Given the description of an element on the screen output the (x, y) to click on. 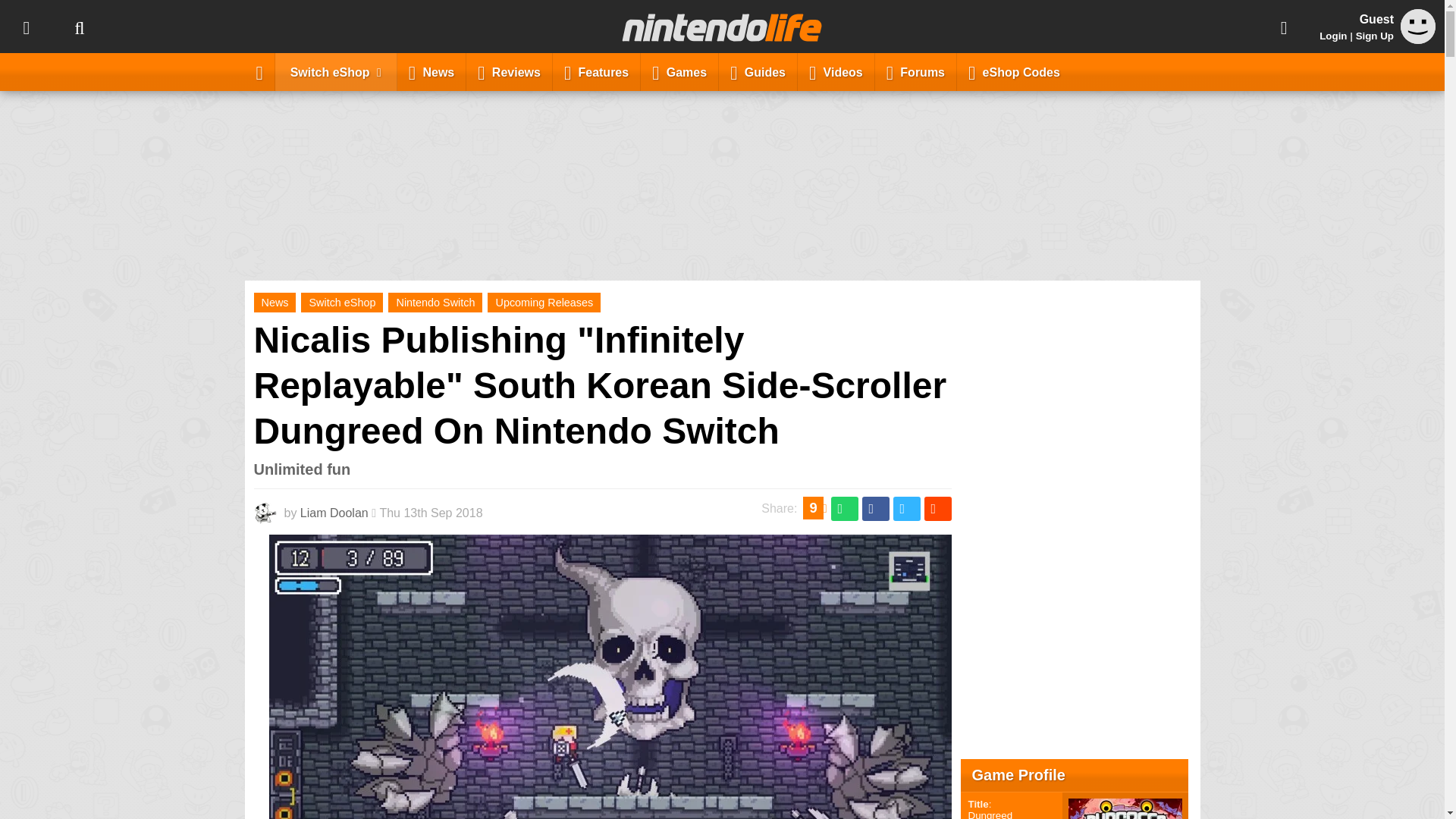
Videos (836, 71)
Nintendo Life (721, 27)
Liam Doolan (333, 512)
Nintendo Life (721, 27)
eShop Codes (1013, 71)
Share This Page (1283, 26)
Switch eShop (336, 71)
Forums (915, 71)
Search (79, 26)
Guest (1417, 26)
Share this on Facebook (874, 508)
Nintendo Switch (434, 302)
Features (596, 71)
Guest (1417, 39)
News (274, 302)
